Given the description of an element on the screen output the (x, y) to click on. 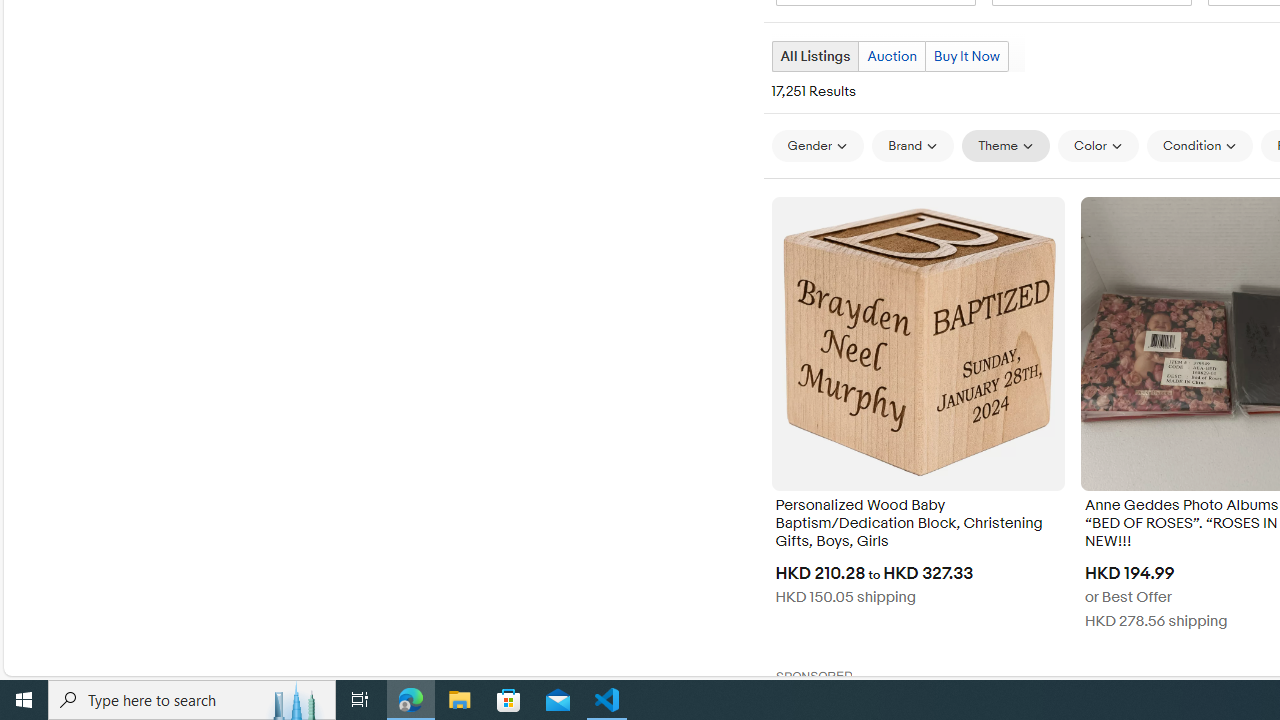
Auction (891, 56)
Buy It Now (966, 56)
Color (1098, 146)
Condition (1199, 146)
Condition (1199, 145)
Color (1098, 145)
Gender (817, 145)
Auction (891, 56)
Brand (912, 146)
All Listings (814, 56)
Gender (817, 146)
Theme (1006, 146)
Brand (912, 145)
